Given the description of an element on the screen output the (x, y) to click on. 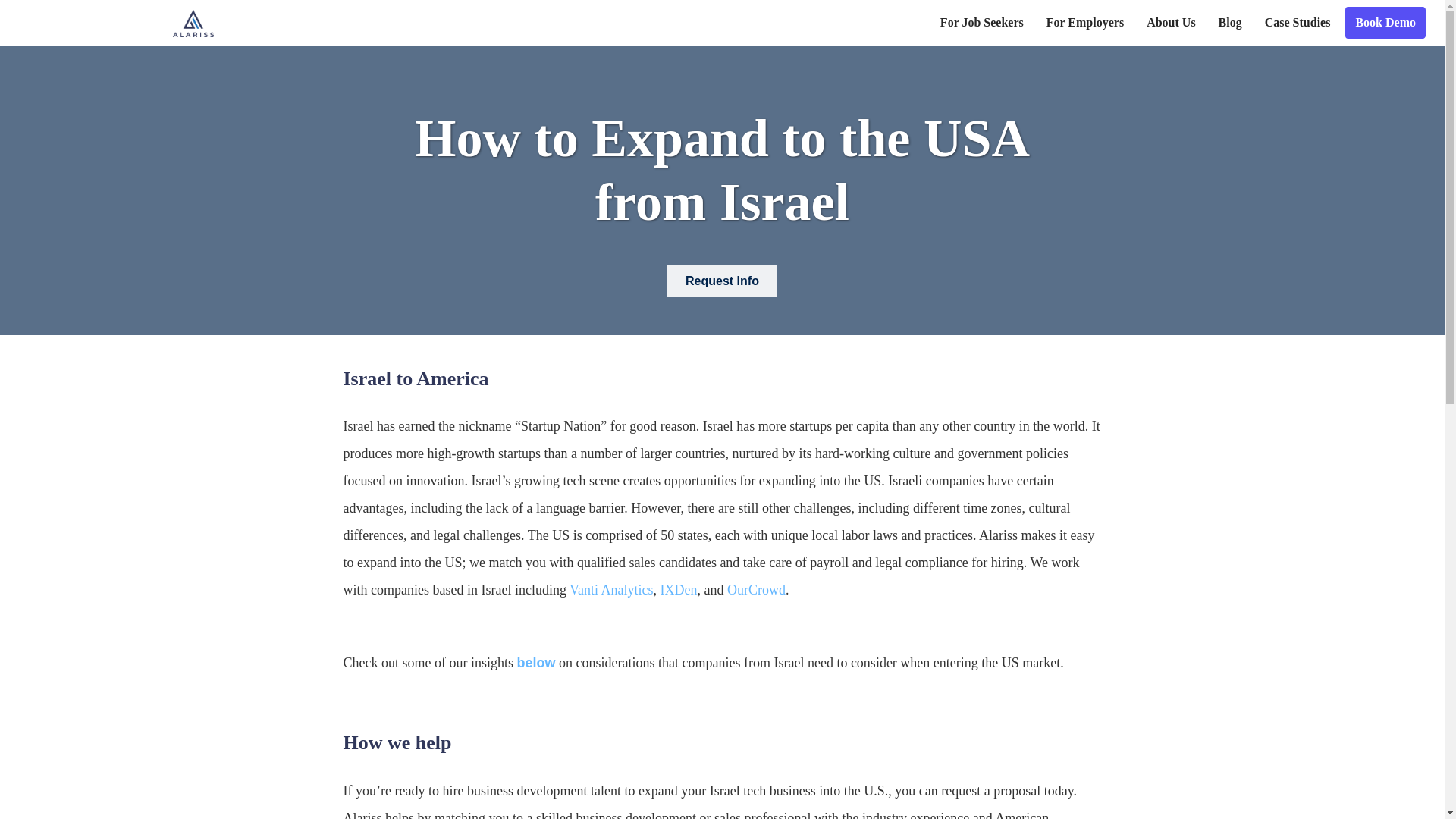
Case Studies (1297, 22)
Blog (1230, 22)
For Employers (1085, 22)
For Job Seekers (981, 22)
About Us (1170, 22)
Book Demo (1385, 22)
